Given the description of an element on the screen output the (x, y) to click on. 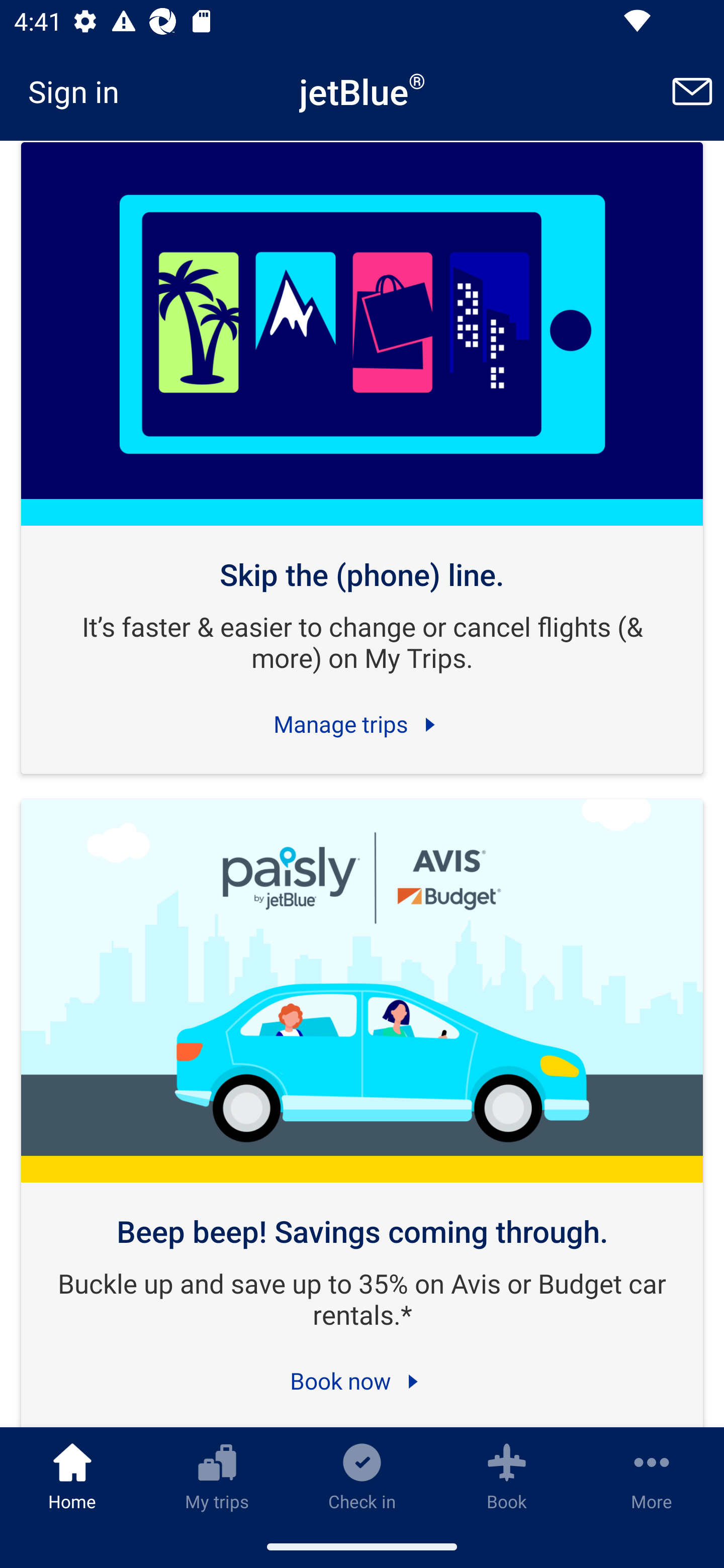
Sign in (80, 91)
Manage trips (361, 725)
Book now (361, 1382)
My trips (216, 1475)
Check in (361, 1475)
Book (506, 1475)
More (651, 1475)
